Given the description of an element on the screen output the (x, y) to click on. 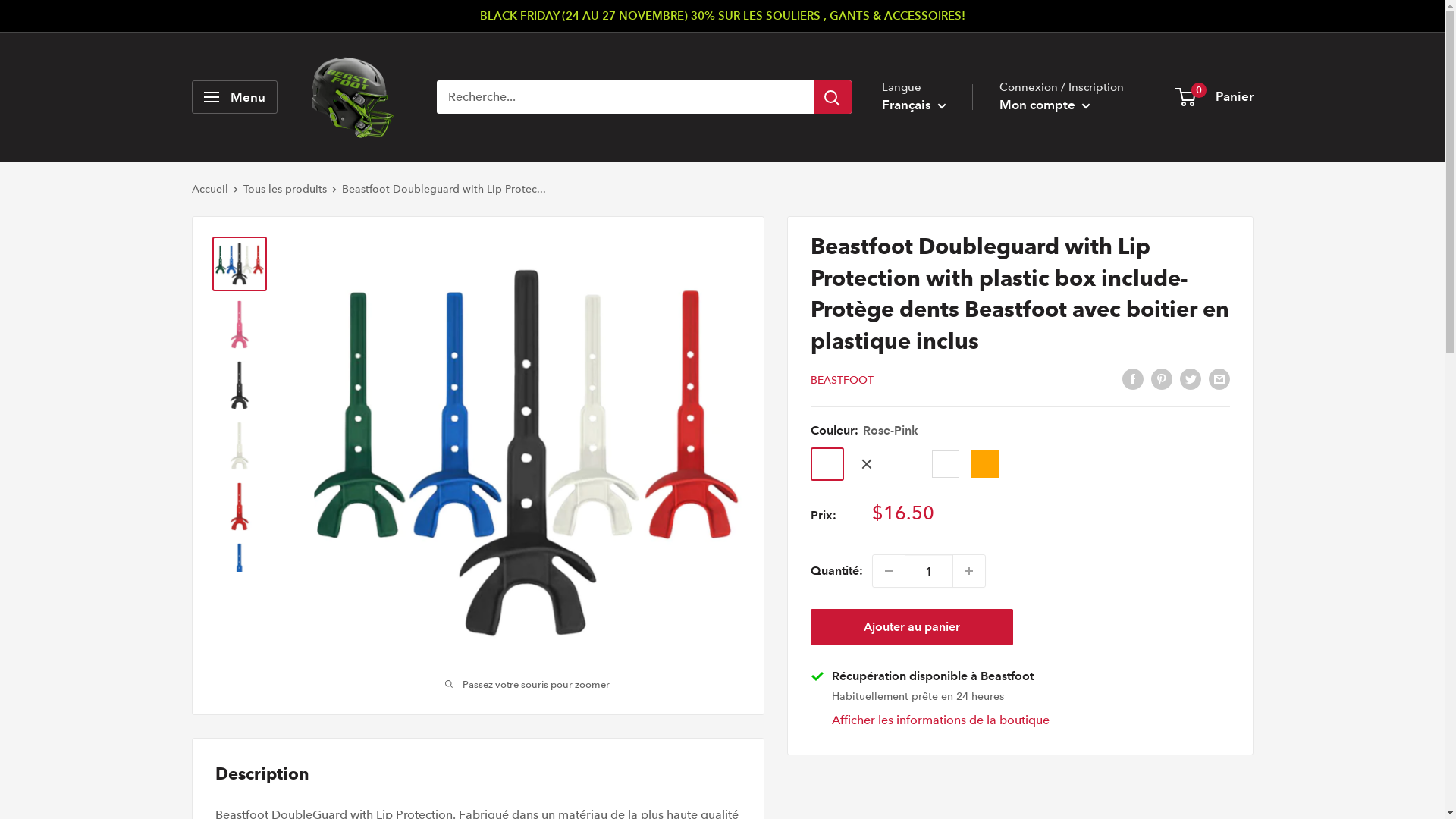
Mon compte Element type: text (1044, 105)
Ajouter au panier Element type: text (911, 626)
Menu Element type: text (233, 96)
BEASTFOOT Element type: text (840, 379)
Beastfoot Element type: text (353, 96)
en Element type: text (927, 169)
Tous les produits Element type: text (284, 188)
Afficher les informations de la boutique Element type: text (939, 720)
fr Element type: text (927, 146)
Accueil Element type: text (209, 188)
0
Panier Element type: text (1214, 96)
